Given the description of an element on the screen output the (x, y) to click on. 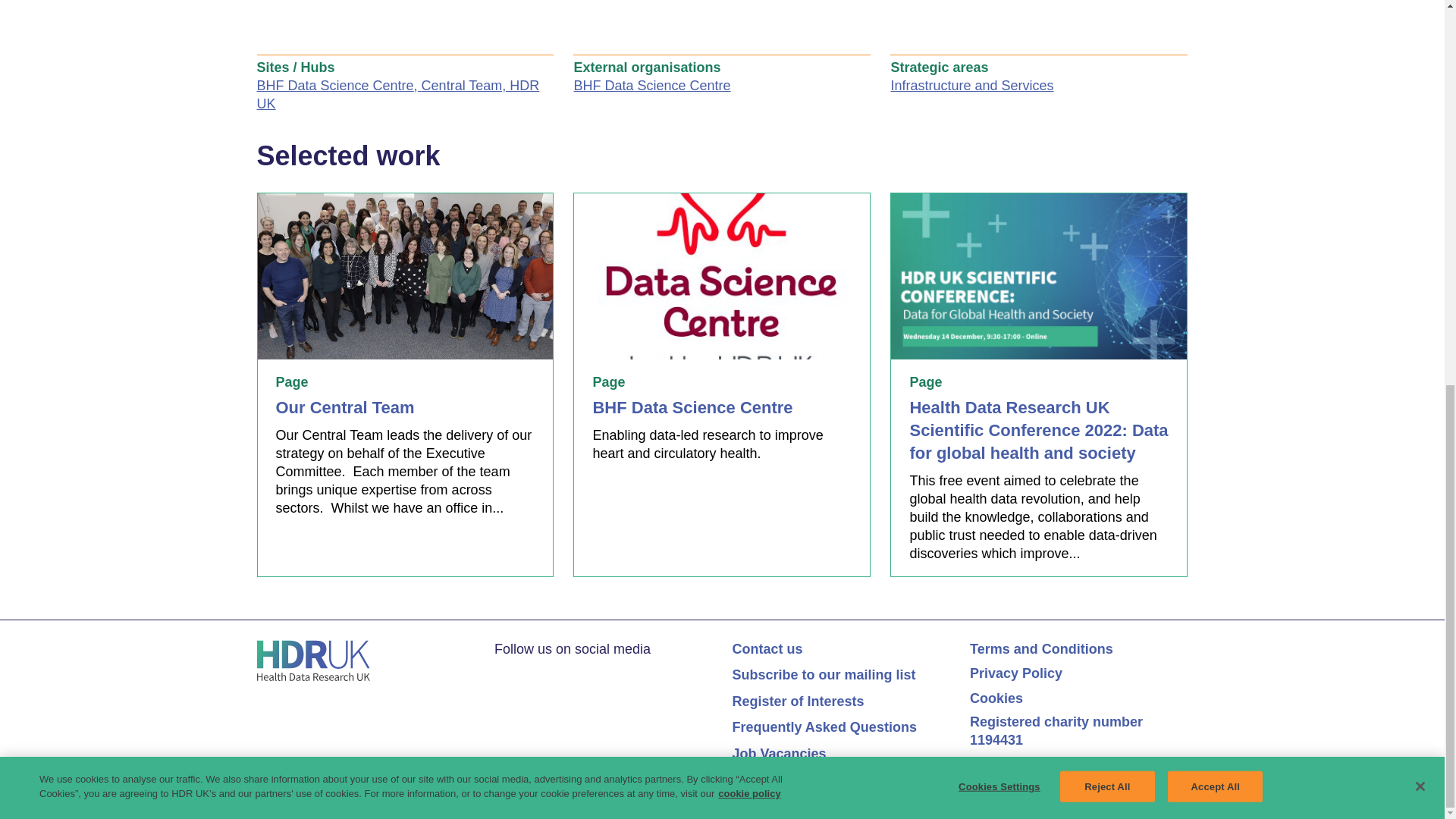
Twitter (503, 673)
LinkedIn (531, 673)
YouTube (561, 673)
